Given the description of an element on the screen output the (x, y) to click on. 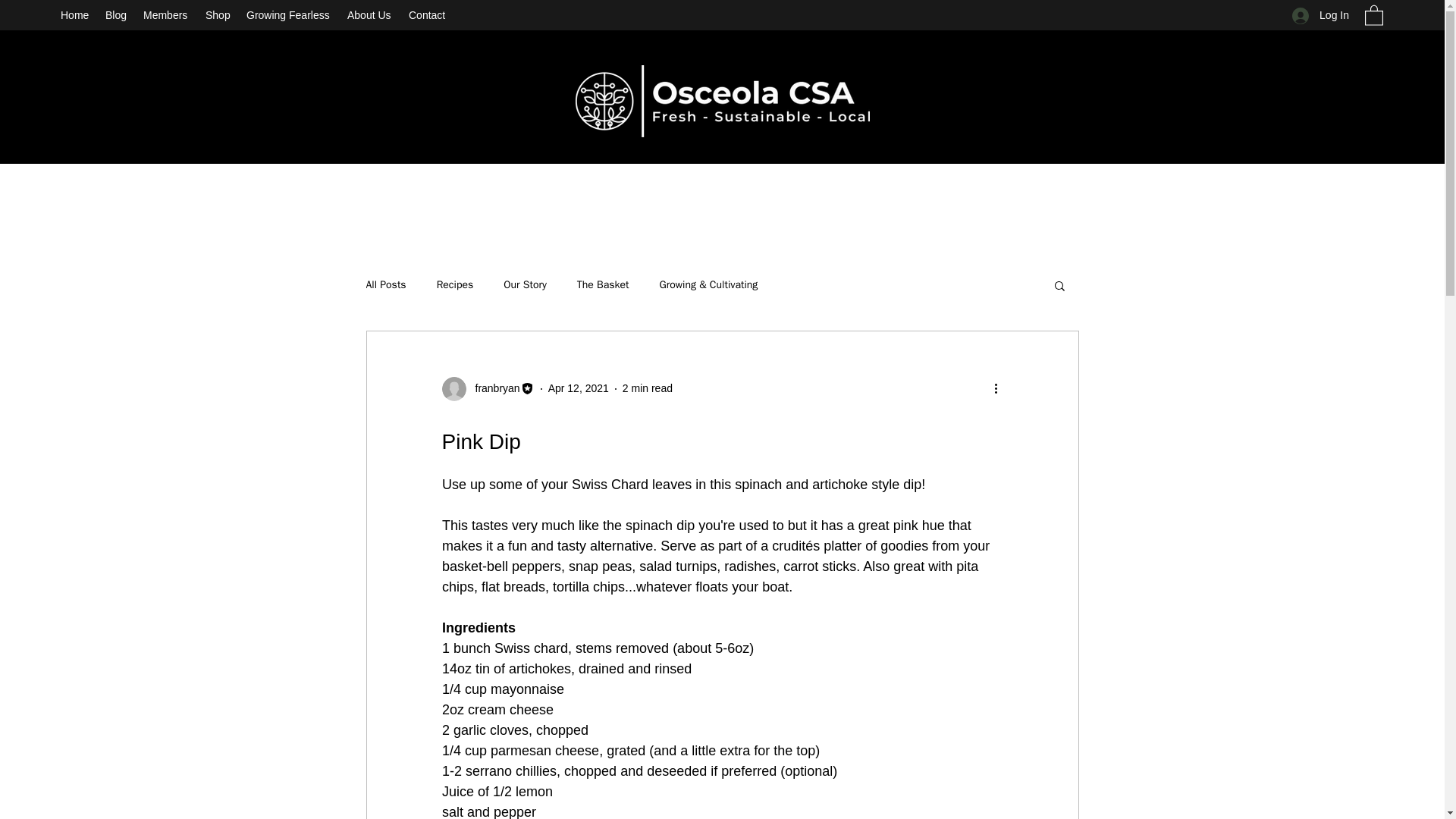
2 min read (647, 387)
Growing Fearless (288, 15)
franbryan (487, 388)
Home (74, 15)
The Basket (602, 284)
About Us (370, 15)
All Posts (385, 284)
Log In (1320, 15)
Shop (218, 15)
Our Story (524, 284)
Apr 12, 2021 (578, 387)
franbryan (492, 388)
Members (166, 15)
Blog (116, 15)
Contact (428, 15)
